Given the description of an element on the screen output the (x, y) to click on. 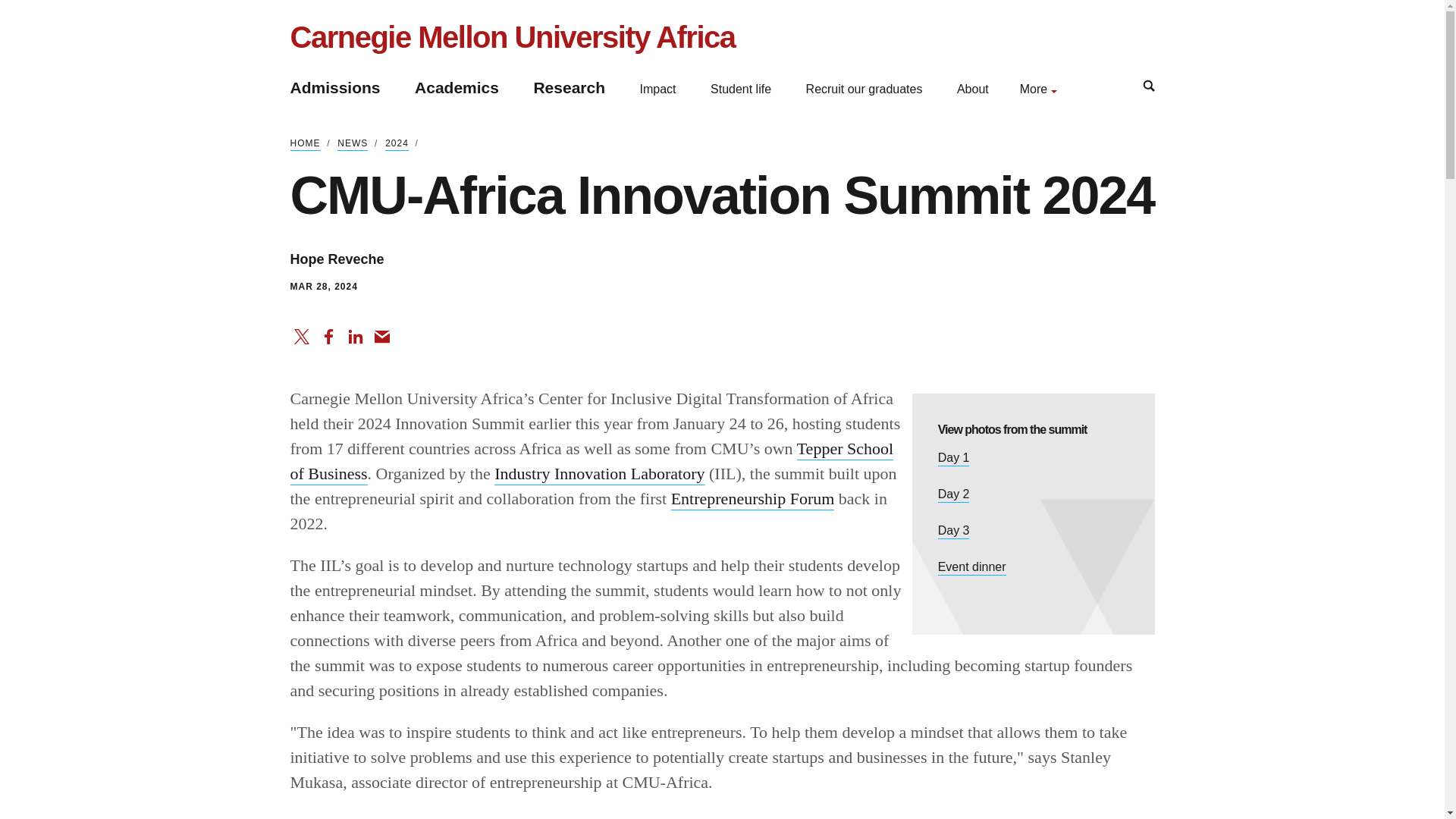
Event dinner (971, 567)
NEWS (352, 144)
Impact (658, 88)
Search (1147, 85)
Day 3 (953, 531)
Carnegie Mellon University Africa (512, 36)
Research (568, 87)
HOME (304, 144)
Admissions (334, 87)
Student life (740, 88)
